Given the description of an element on the screen output the (x, y) to click on. 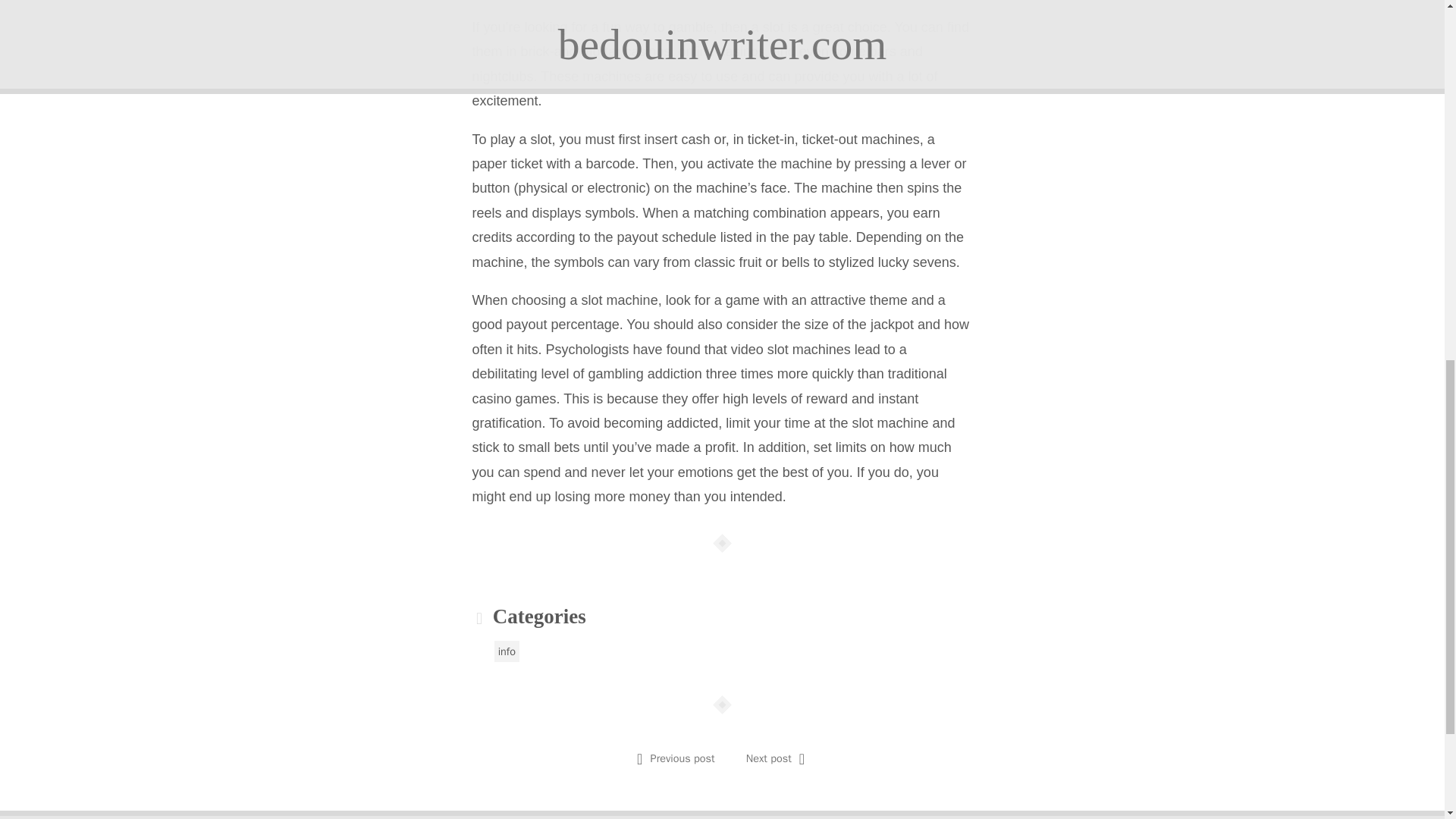
info (507, 650)
Previous post (682, 757)
Next post (768, 757)
